Given the description of an element on the screen output the (x, y) to click on. 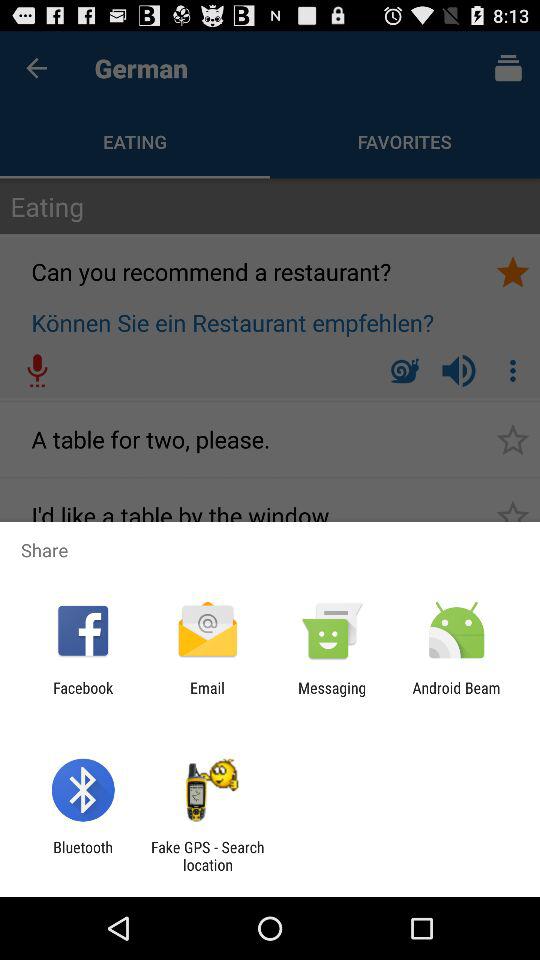
jump until the facebook (83, 696)
